Given the description of an element on the screen output the (x, y) to click on. 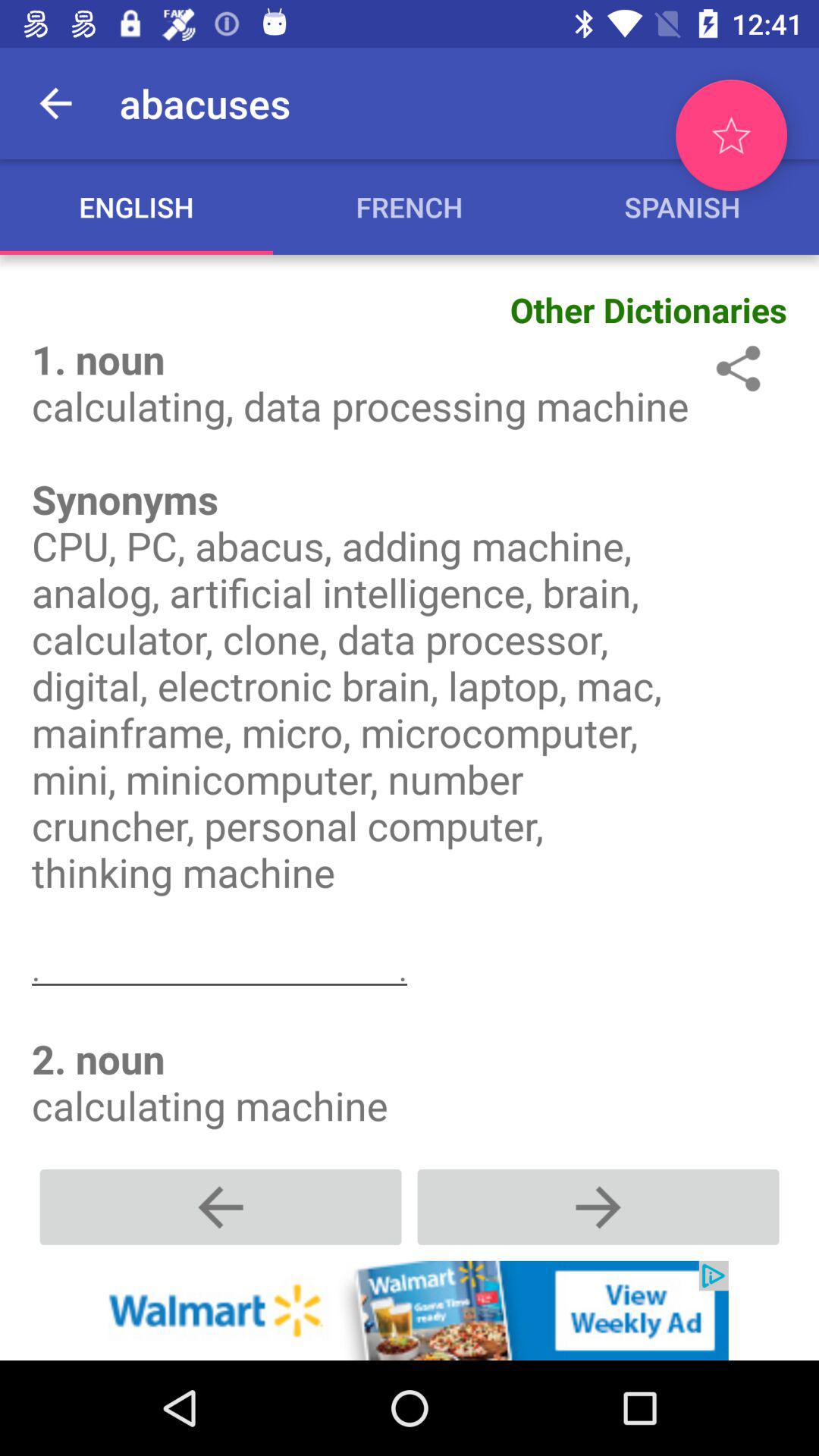
click to favorites option (731, 135)
